Given the description of an element on the screen output the (x, y) to click on. 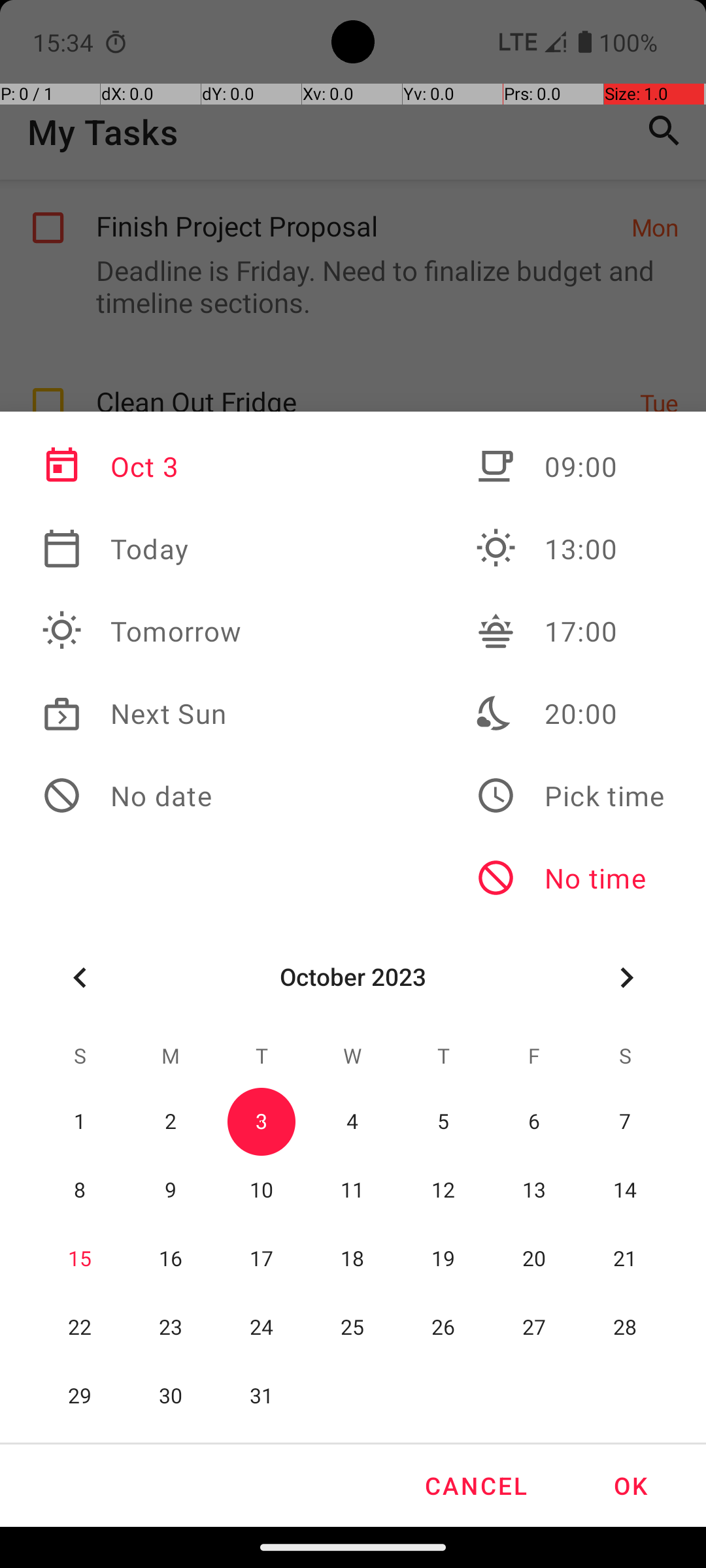
Oct 3 Element type: android.widget.CompoundButton (141, 466)
